Given the description of an element on the screen output the (x, y) to click on. 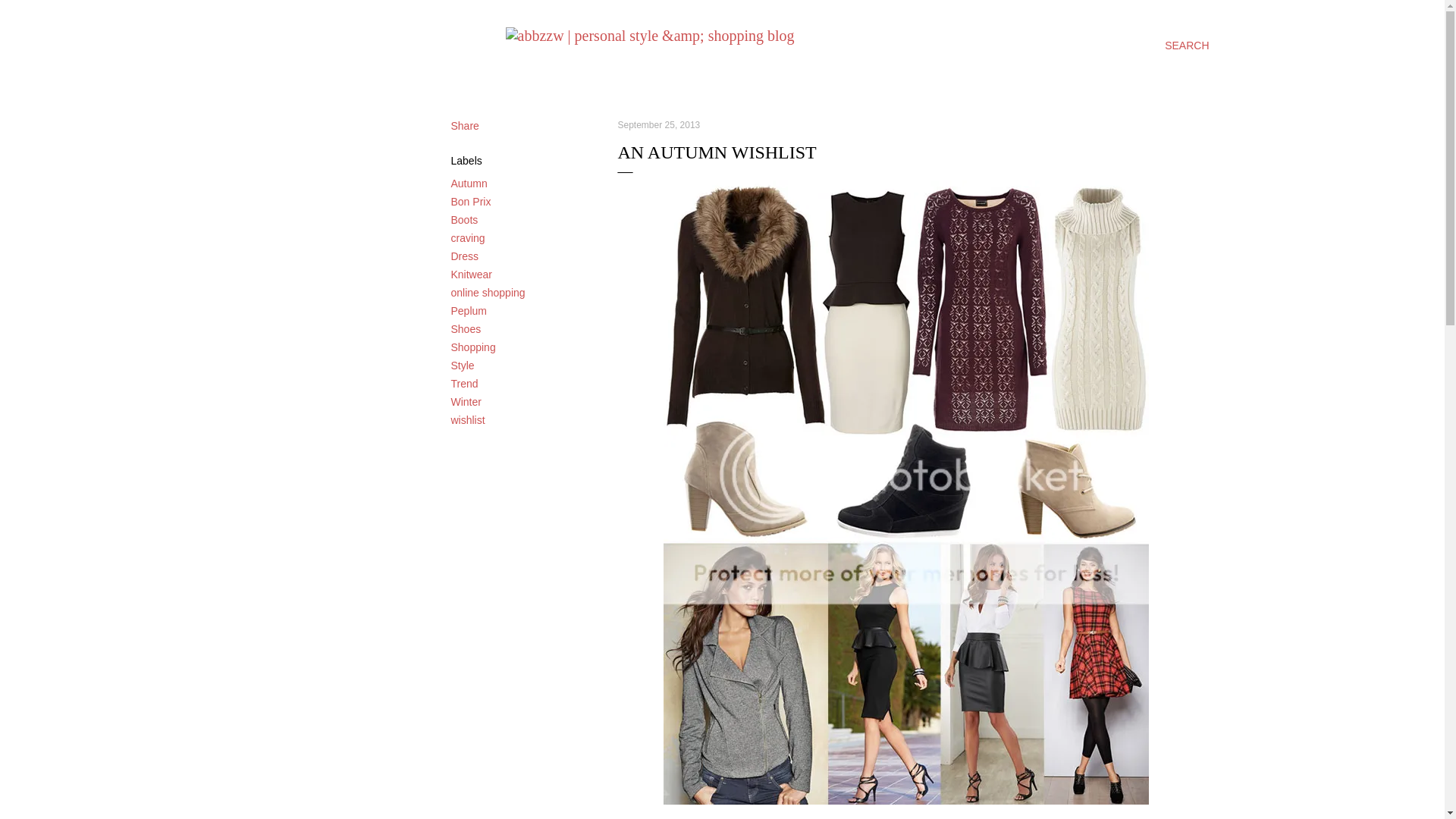
Shoes (464, 328)
Trend (463, 383)
craving (466, 237)
Dress (464, 256)
online shopping (486, 292)
Shopping (472, 346)
permanent link (658, 124)
September 25, 2013 (658, 124)
Peplum (467, 310)
SEARCH (1186, 45)
